Given the description of an element on the screen output the (x, y) to click on. 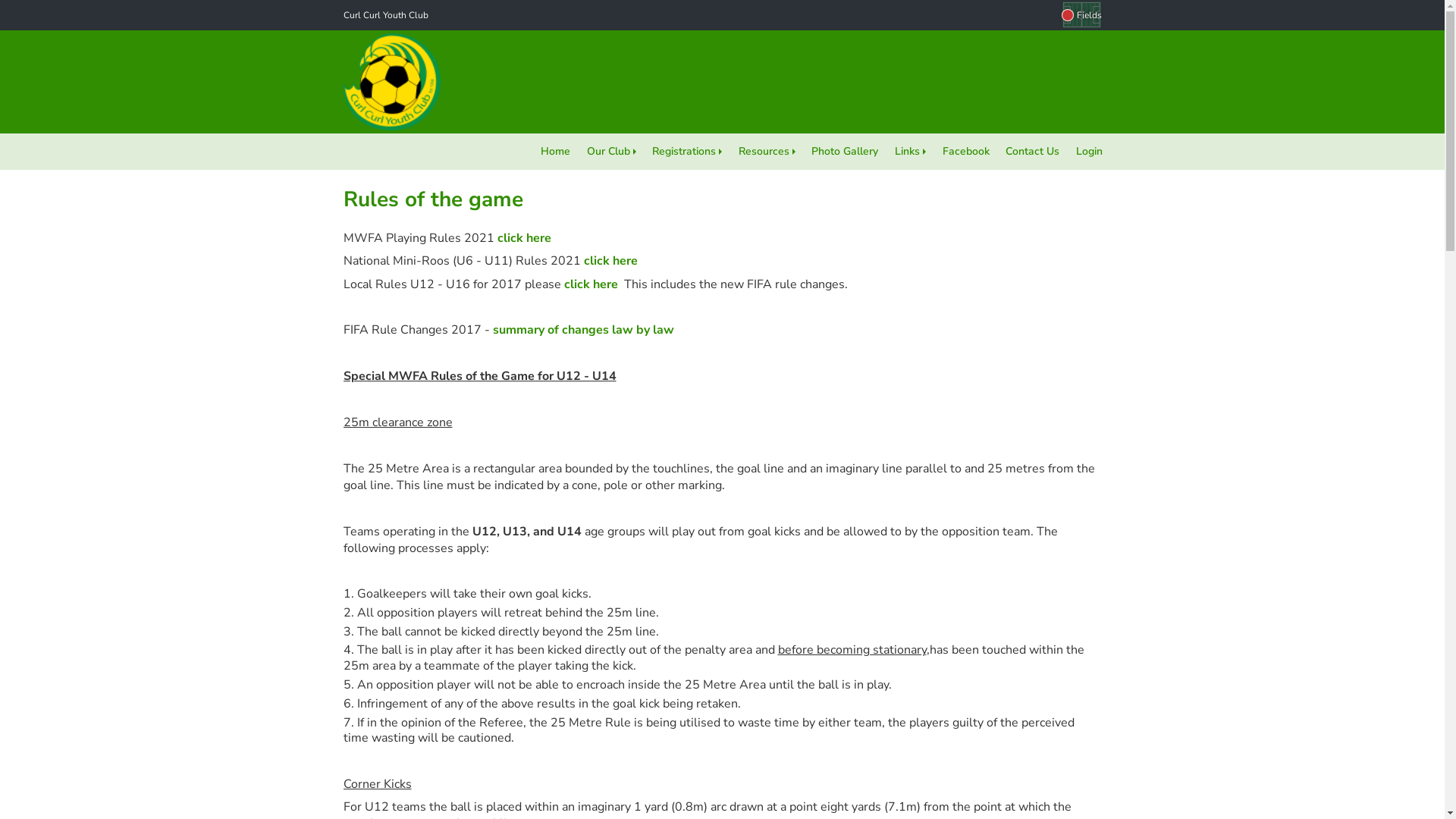
Links Element type: text (910, 151)
Registrations Element type: text (686, 151)
Our Club Element type: text (611, 151)
Resources Element type: text (766, 151)
click here Element type: text (522, 237)
Facebook Element type: text (965, 151)
Home Element type: text (555, 151)
Fields Element type: text (1081, 15)
Photo Gallery Element type: text (845, 151)
click here Element type: text (589, 284)
Curl Curl Youth Club Element type: text (384, 15)
summary of changes law by law Element type: text (581, 329)
click here Element type: text (610, 260)
Login Element type: text (1088, 151)
Contact Us Element type: text (1032, 151)
